Given the description of an element on the screen output the (x, y) to click on. 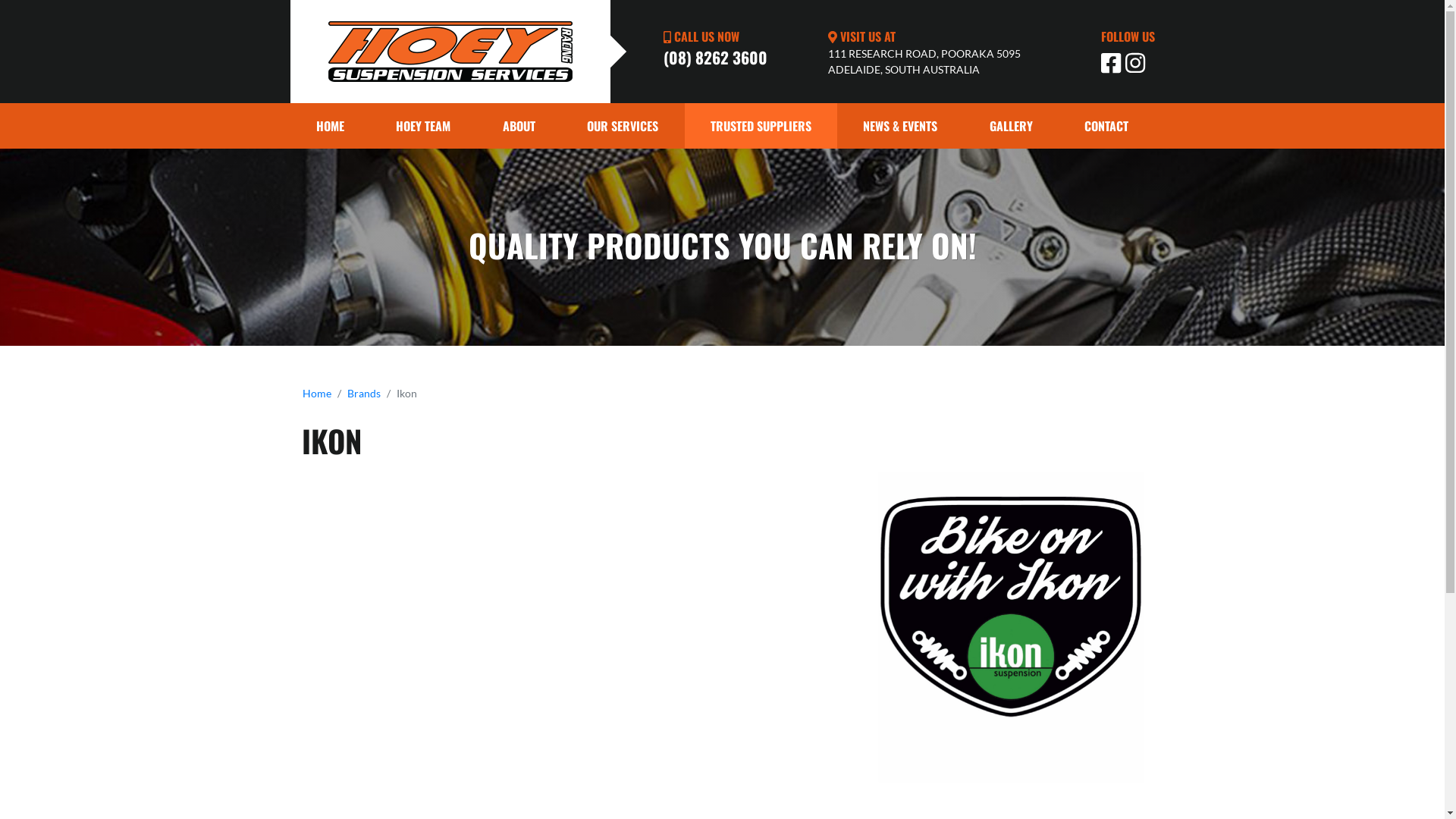
HOEY TEAM Element type: text (423, 125)
TRUSTED SUPPLIERS Element type: text (760, 125)
Home Element type: text (315, 392)
NEWS & EVENTS Element type: text (900, 125)
GALLERY Element type: text (1010, 125)
Brands Element type: text (363, 392)
ABOUT Element type: text (518, 125)
OUR SERVICES Element type: text (622, 125)
HOME
(CURRENT) Element type: text (329, 125)
CONTACT Element type: text (1106, 125)
